Given the description of an element on the screen output the (x, y) to click on. 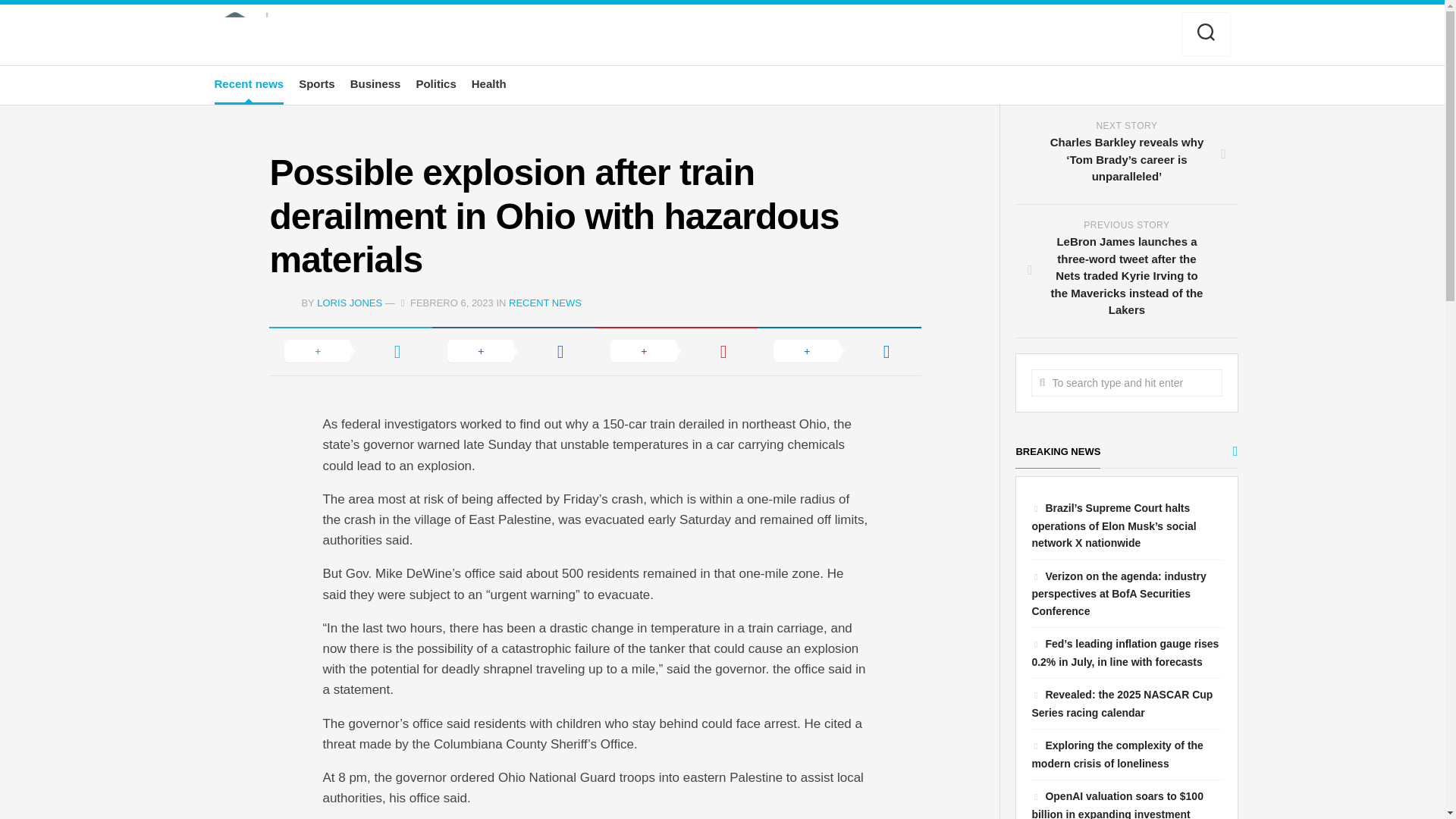
Share on X (350, 350)
Exploring the complexity of the modern crisis of loneliness (1116, 754)
Business (375, 83)
Share on LinkedIn (839, 350)
To search type and hit enter (1125, 382)
LORIS JONES (349, 302)
RECENT NEWS (544, 302)
Recent news (248, 83)
Share on Facebook (513, 350)
